Given the description of an element on the screen output the (x, y) to click on. 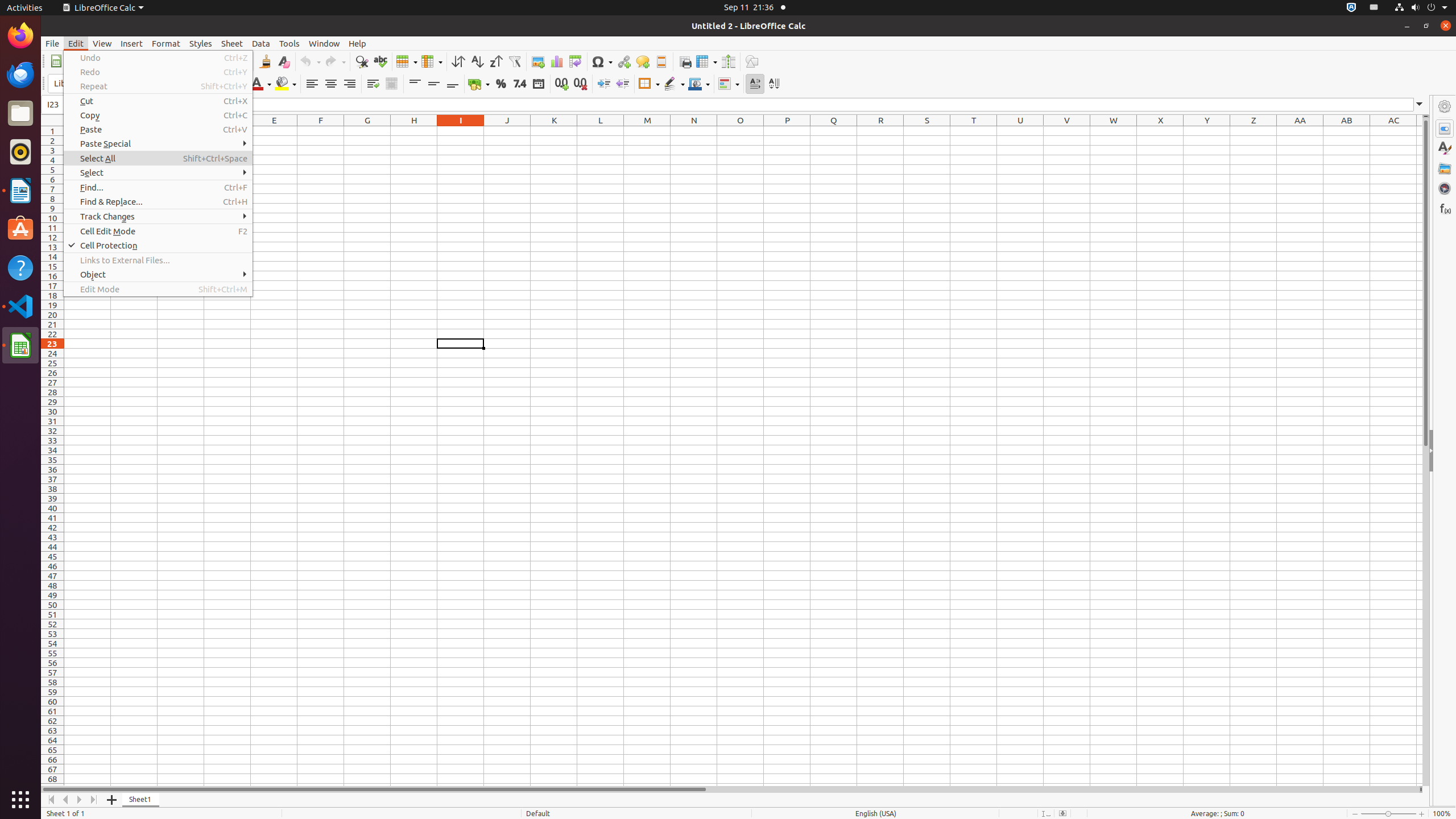
G1 Element type: table-cell (367, 130)
Paste Special Element type: menu (157, 143)
